Given the description of an element on the screen output the (x, y) to click on. 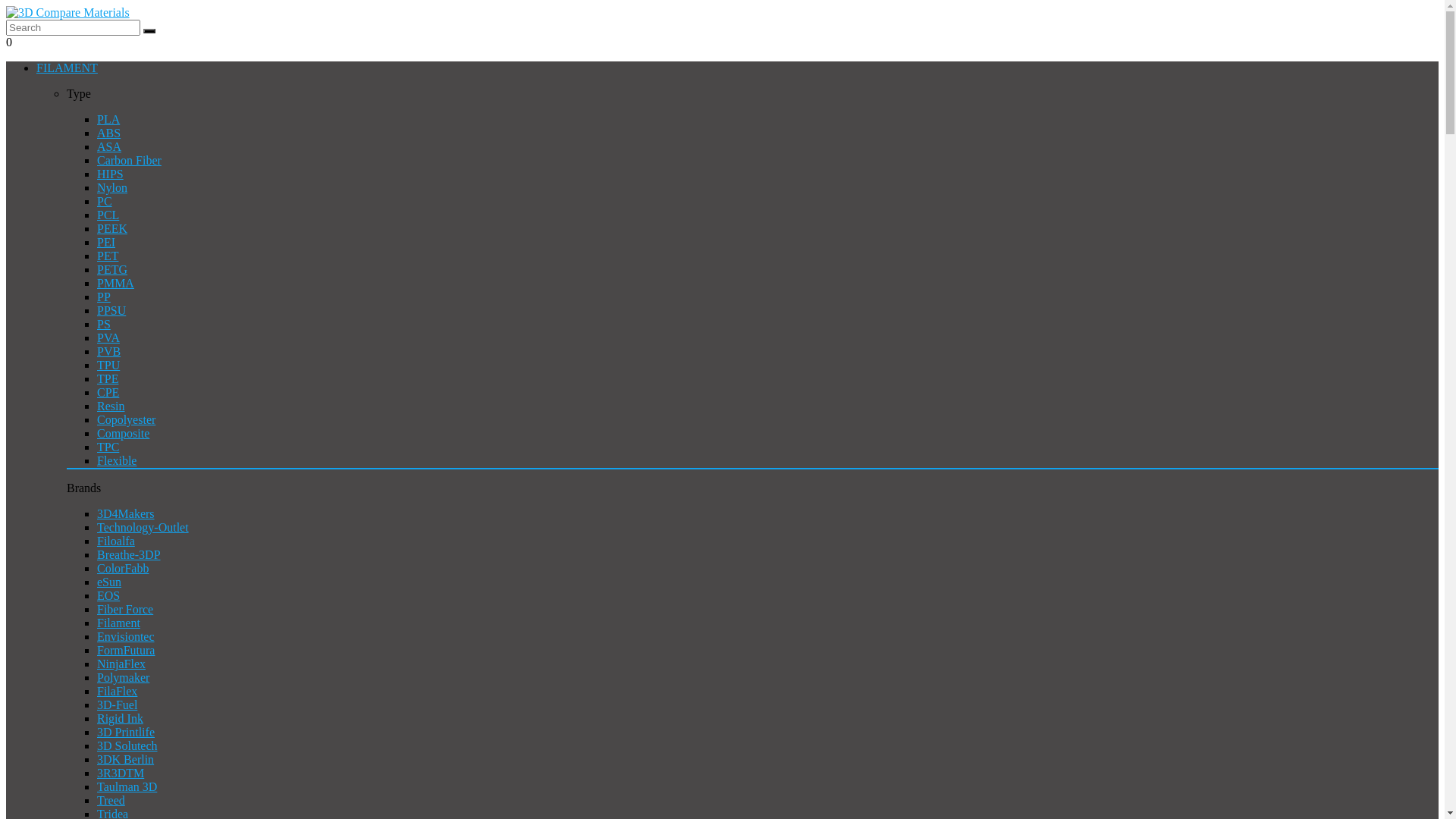
Carbon Fiber Element type: text (129, 159)
Filament Element type: text (118, 622)
PP Element type: text (103, 296)
Rigid Ink Element type: text (120, 718)
PLA Element type: text (108, 118)
Composite Element type: text (123, 432)
3D-Fuel Element type: text (117, 704)
Fiber Force Element type: text (125, 608)
PVB Element type: text (108, 351)
PEI Element type: text (106, 241)
HIPS Element type: text (110, 173)
Flexible Element type: text (116, 460)
FILAMENT Element type: text (66, 67)
3D4Makers Element type: text (125, 513)
PEEK Element type: text (112, 228)
EOS Element type: text (108, 595)
3DK Berlin Element type: text (125, 759)
TPE Element type: text (107, 378)
3D Solutech Element type: text (127, 745)
ABS Element type: text (108, 132)
Nylon Element type: text (112, 187)
Technology-Outlet Element type: text (142, 526)
FormFutura Element type: text (125, 649)
Breathe-3DP Element type: text (128, 554)
NinjaFlex Element type: text (121, 663)
Resin Element type: text (110, 405)
ASA Element type: text (109, 146)
PPSU Element type: text (111, 310)
TPU Element type: text (108, 364)
PCL Element type: text (108, 214)
Envisiontec Element type: text (125, 636)
PMMA Element type: text (115, 282)
Treed Element type: text (111, 799)
ColorFabb Element type: text (122, 567)
eSun Element type: text (109, 581)
Taulman 3D Element type: text (126, 786)
FilaFlex Element type: text (117, 690)
TPC Element type: text (108, 446)
3D Printlife Element type: text (125, 731)
3R3DTM Element type: text (120, 772)
PVA Element type: text (108, 337)
CPE Element type: text (108, 391)
PS Element type: text (103, 323)
PETG Element type: text (112, 269)
Polymaker Element type: text (123, 677)
PC Element type: text (104, 200)
Filoalfa Element type: text (115, 540)
Copolyester Element type: text (126, 419)
PET Element type: text (107, 255)
